Given the description of an element on the screen output the (x, y) to click on. 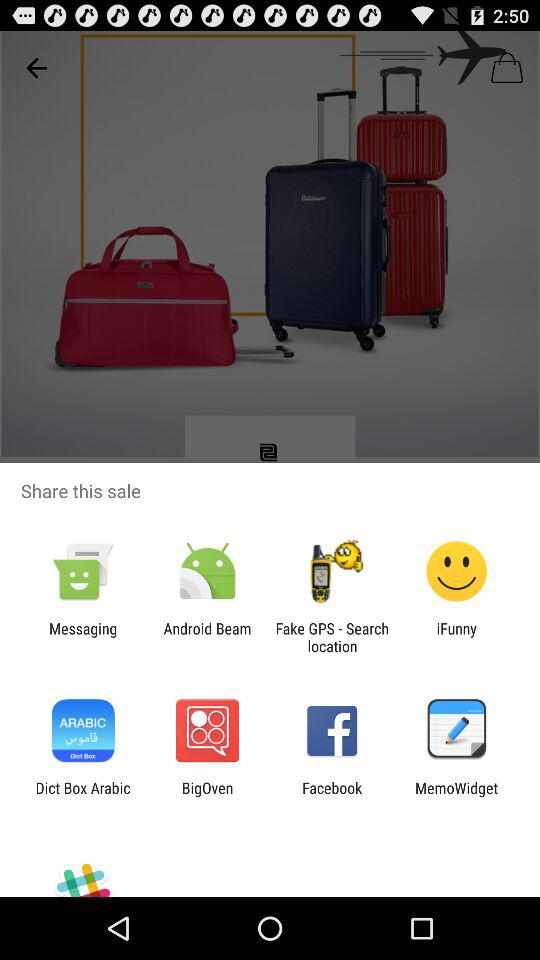
turn on item to the left of bigoven (82, 796)
